Given the description of an element on the screen output the (x, y) to click on. 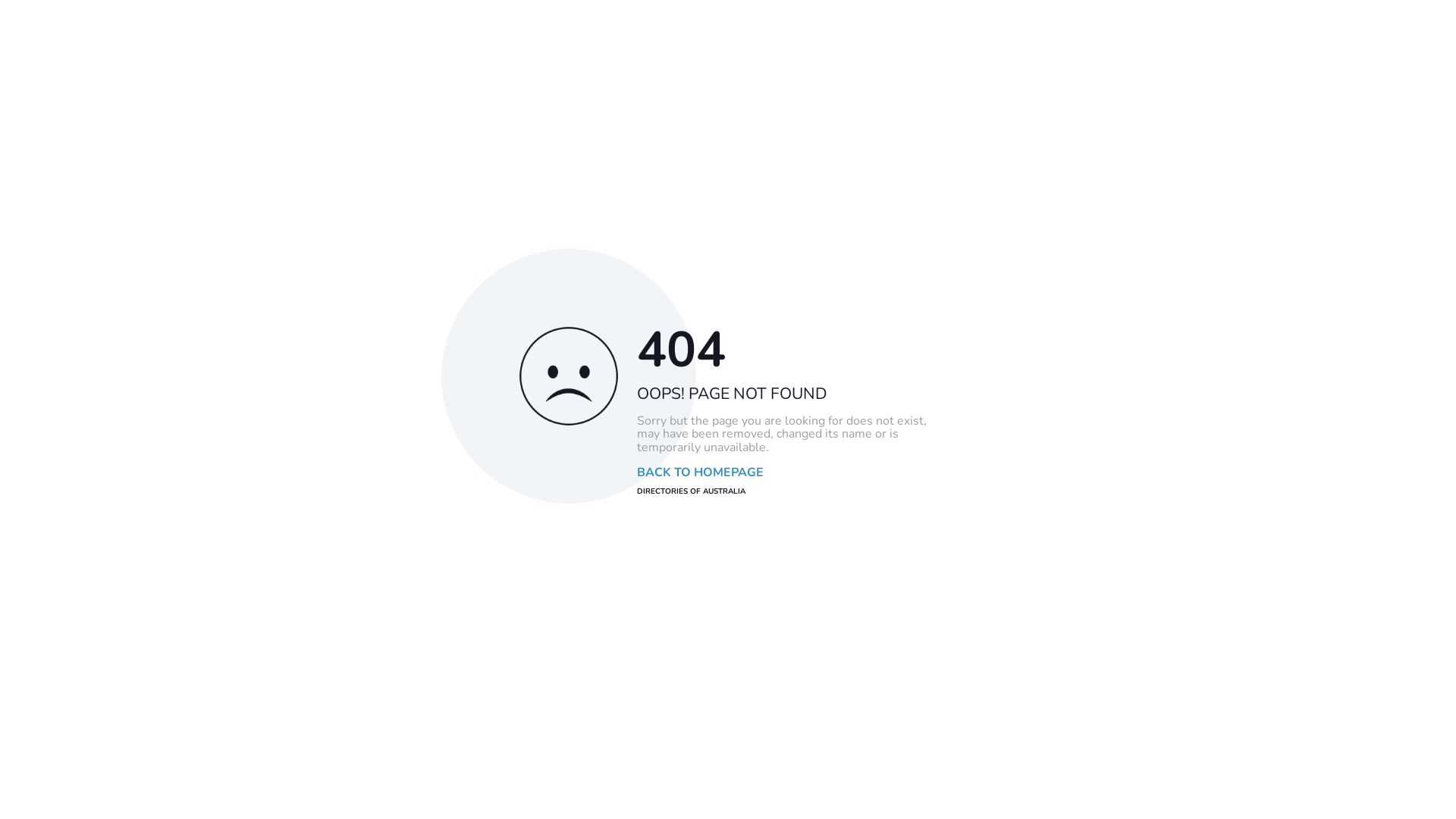
BACK TO HOMEPAGE Element type: text (700, 473)
